Given the description of an element on the screen output the (x, y) to click on. 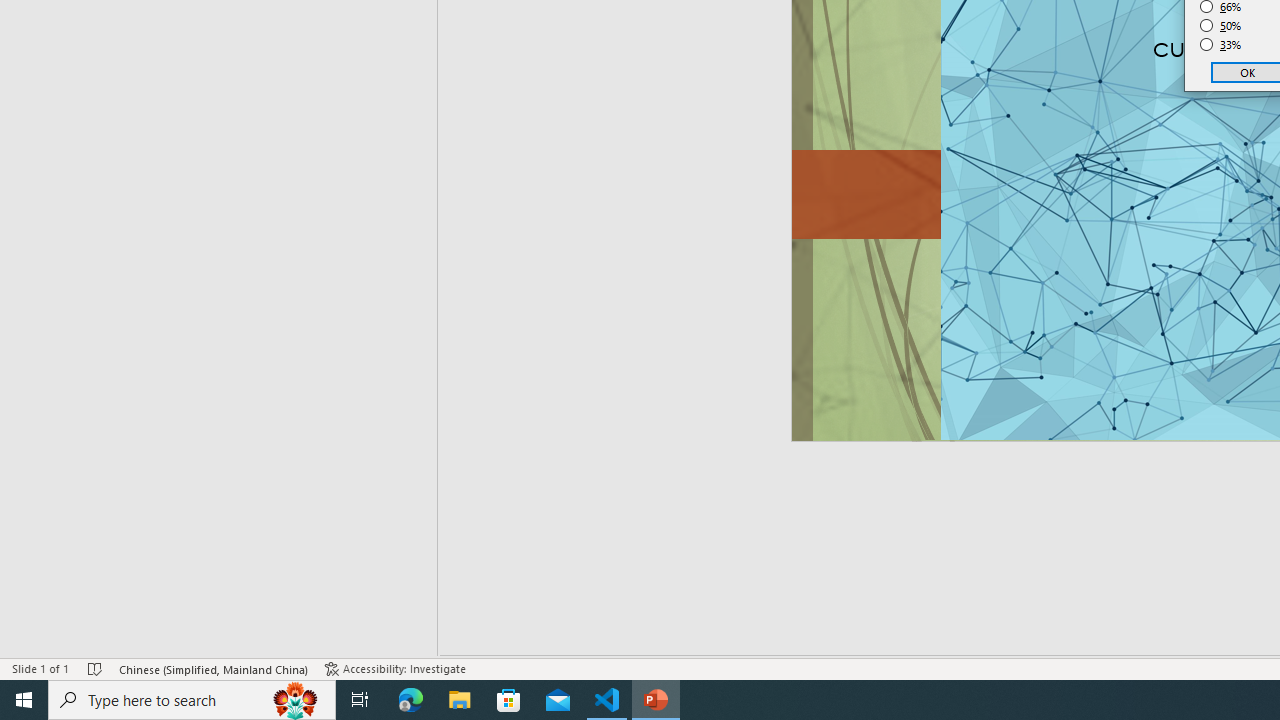
50% (1221, 25)
33% (1221, 44)
